Given the description of an element on the screen output the (x, y) to click on. 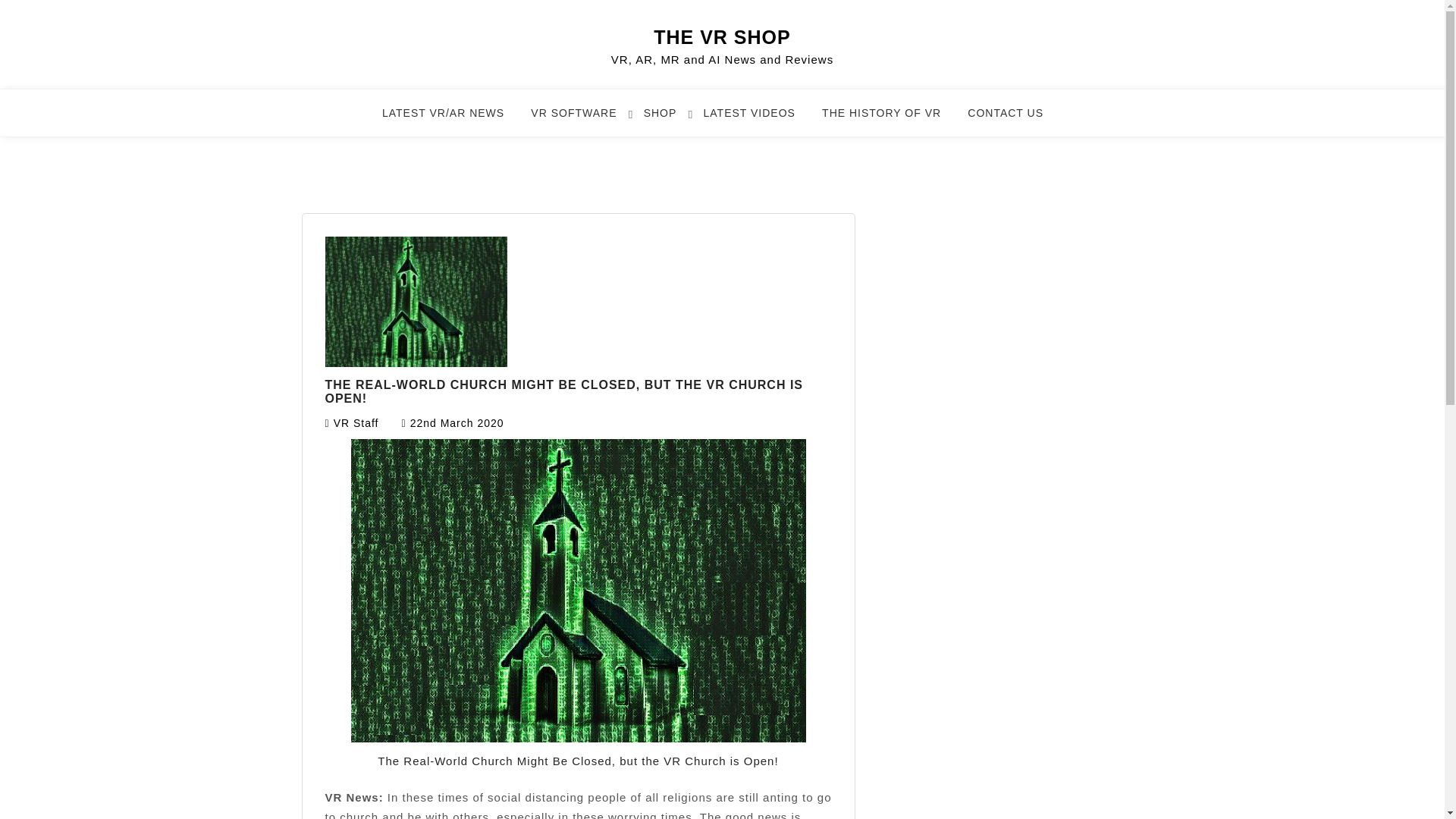
22nd March 2020 (456, 422)
VR Staff (355, 422)
VR SOFTWARE (582, 119)
THE HISTORY OF VR (890, 119)
THE VR SHOP (721, 36)
LATEST VIDEOS (758, 119)
SHOP (669, 119)
CONTACT US (1015, 119)
